Given the description of an element on the screen output the (x, y) to click on. 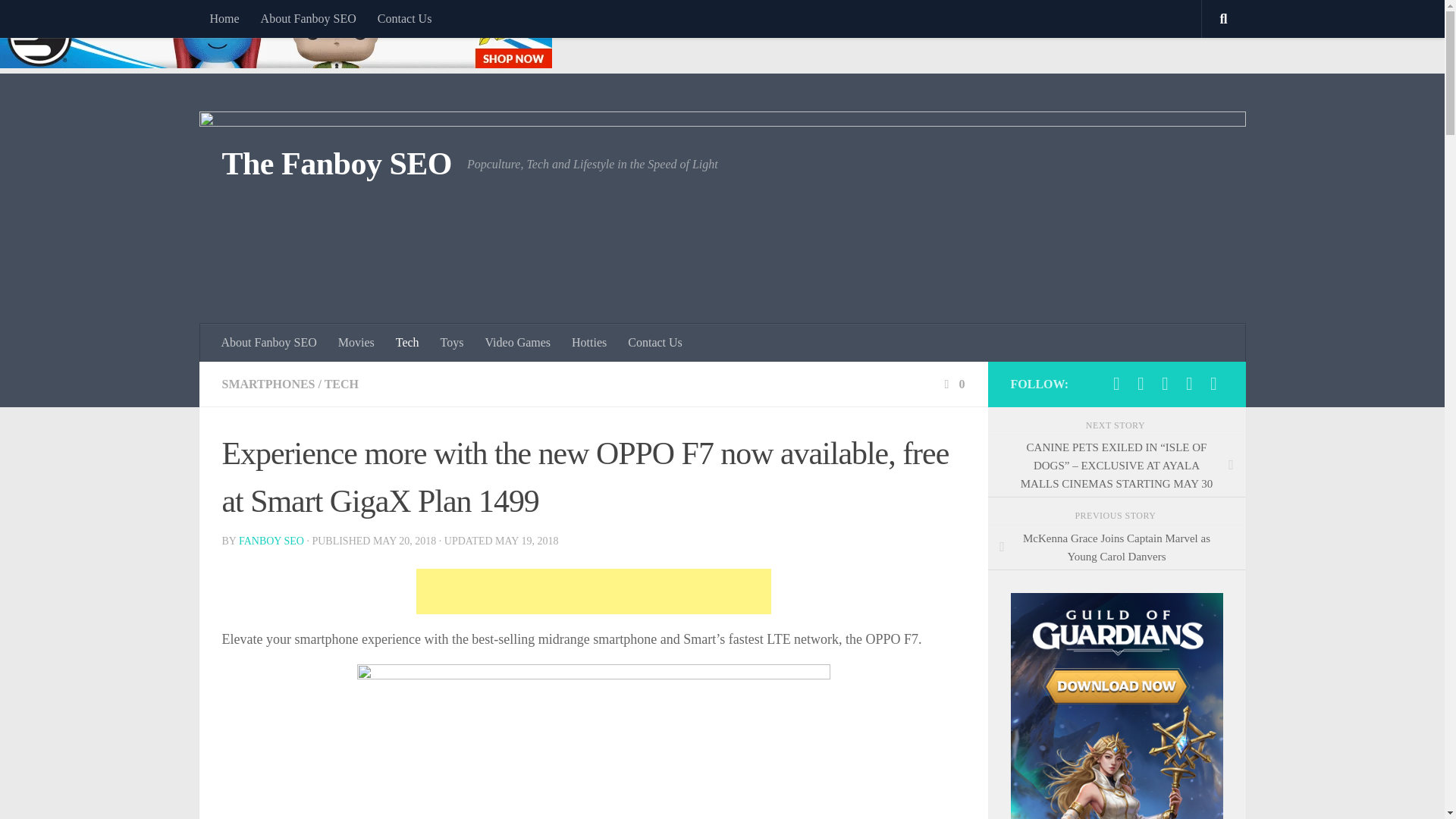
Tech (407, 342)
Toys (451, 342)
TECH (341, 383)
Posts by Fanboy SEO (271, 541)
Follow us on Facebook (1115, 383)
Contact Us (655, 342)
Follow us on Twitter (1140, 383)
FANBOY SEO (271, 541)
The Fanboy SEO (336, 164)
Movies (356, 342)
